Given the description of an element on the screen output the (x, y) to click on. 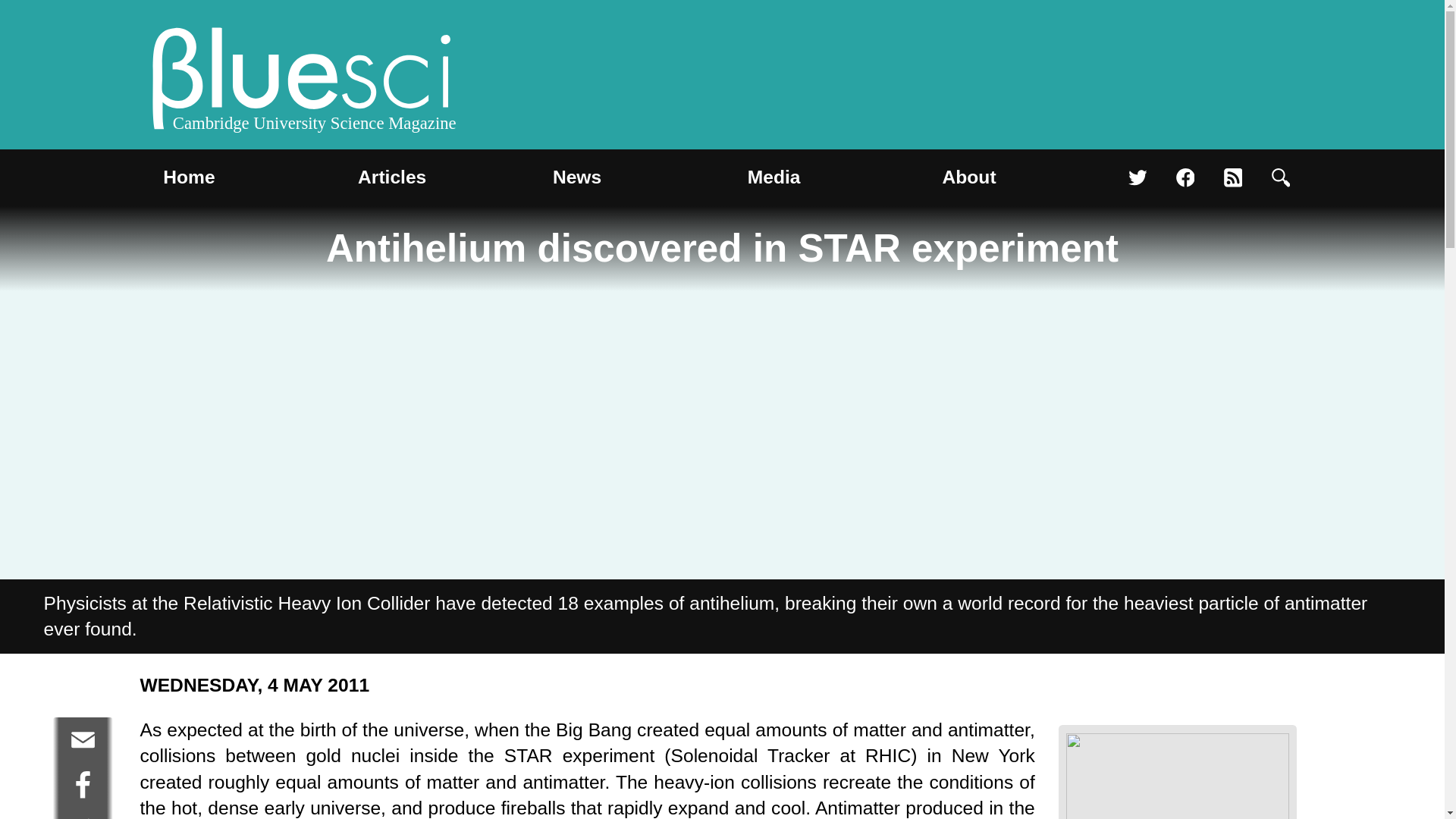
Cambridge University Science Magazine (301, 82)
Articles (391, 177)
Cambridge University Science Magazine (301, 82)
News (576, 177)
Home (188, 177)
About (969, 177)
